Given the description of an element on the screen output the (x, y) to click on. 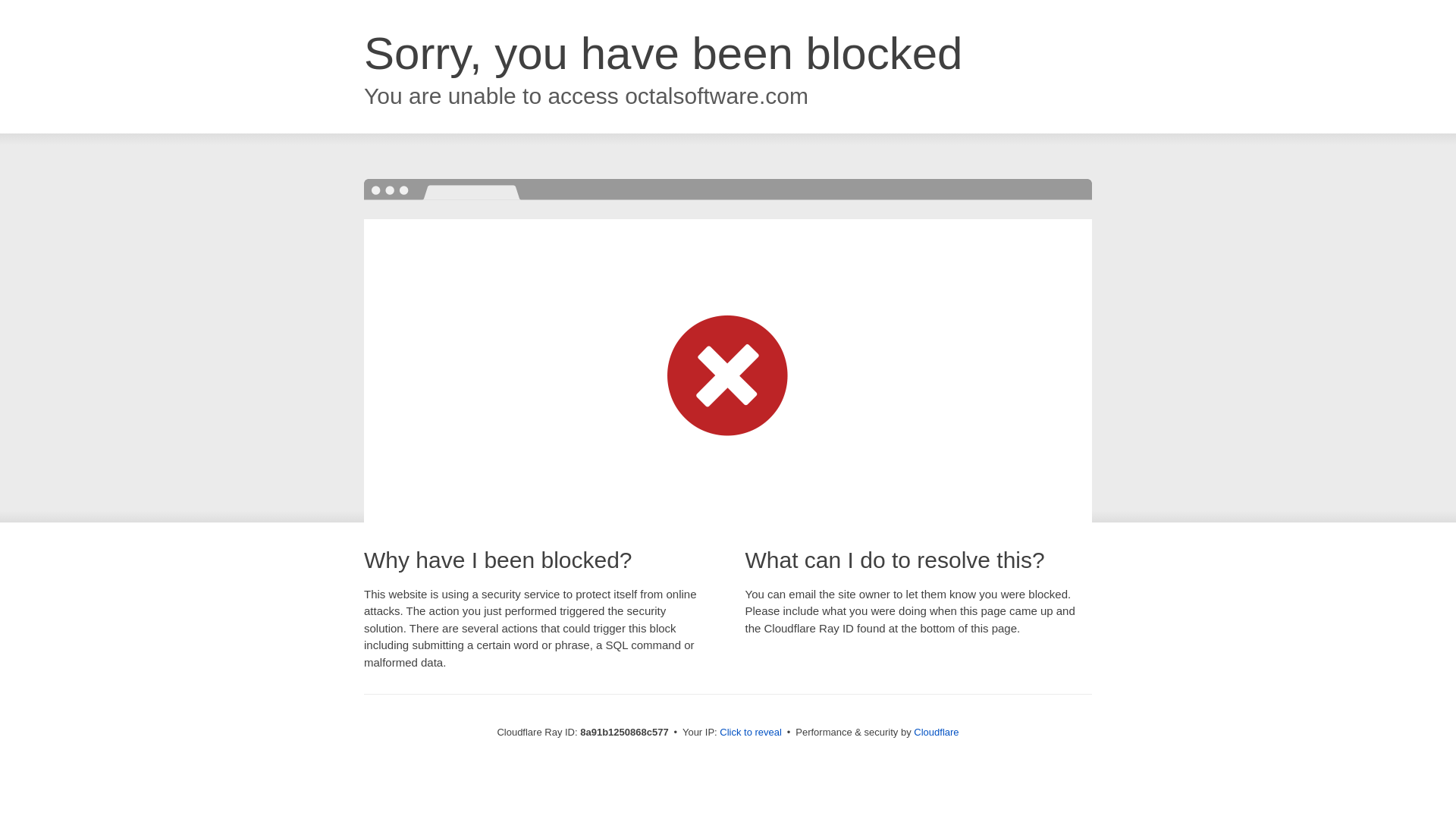
Cloudflare (936, 731)
Click to reveal (750, 732)
